Given the description of an element on the screen output the (x, y) to click on. 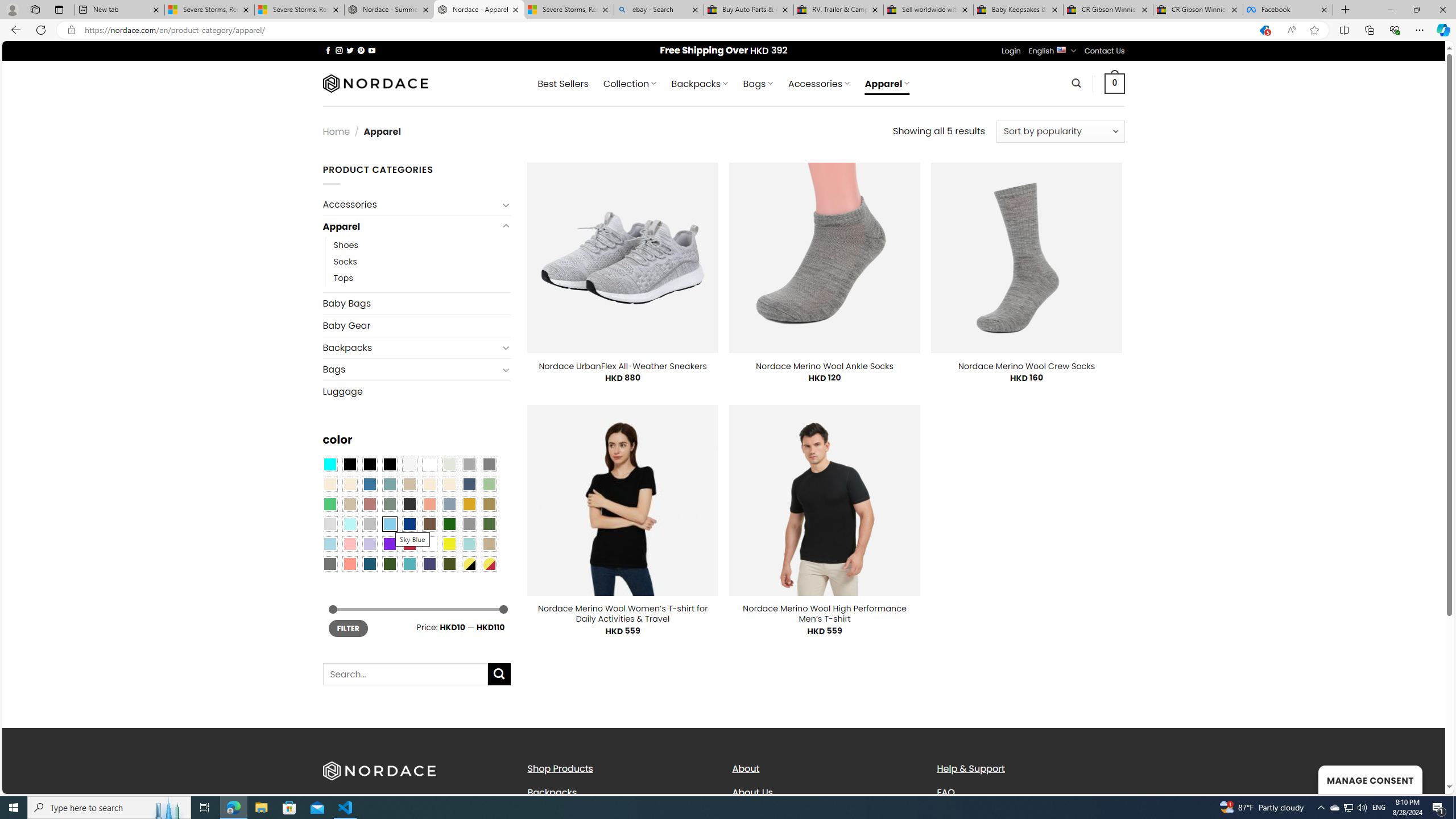
Navy Blue (408, 523)
Forest (389, 563)
Pearly White (408, 464)
Nordace Merino Wool Crew Socks (1026, 365)
Mint (349, 523)
Aqua (468, 543)
Luggage (416, 391)
Light Blue (329, 543)
MANAGE CONSENT (1369, 779)
Purple Navy (429, 563)
Teal (408, 563)
